Given the description of an element on the screen output the (x, y) to click on. 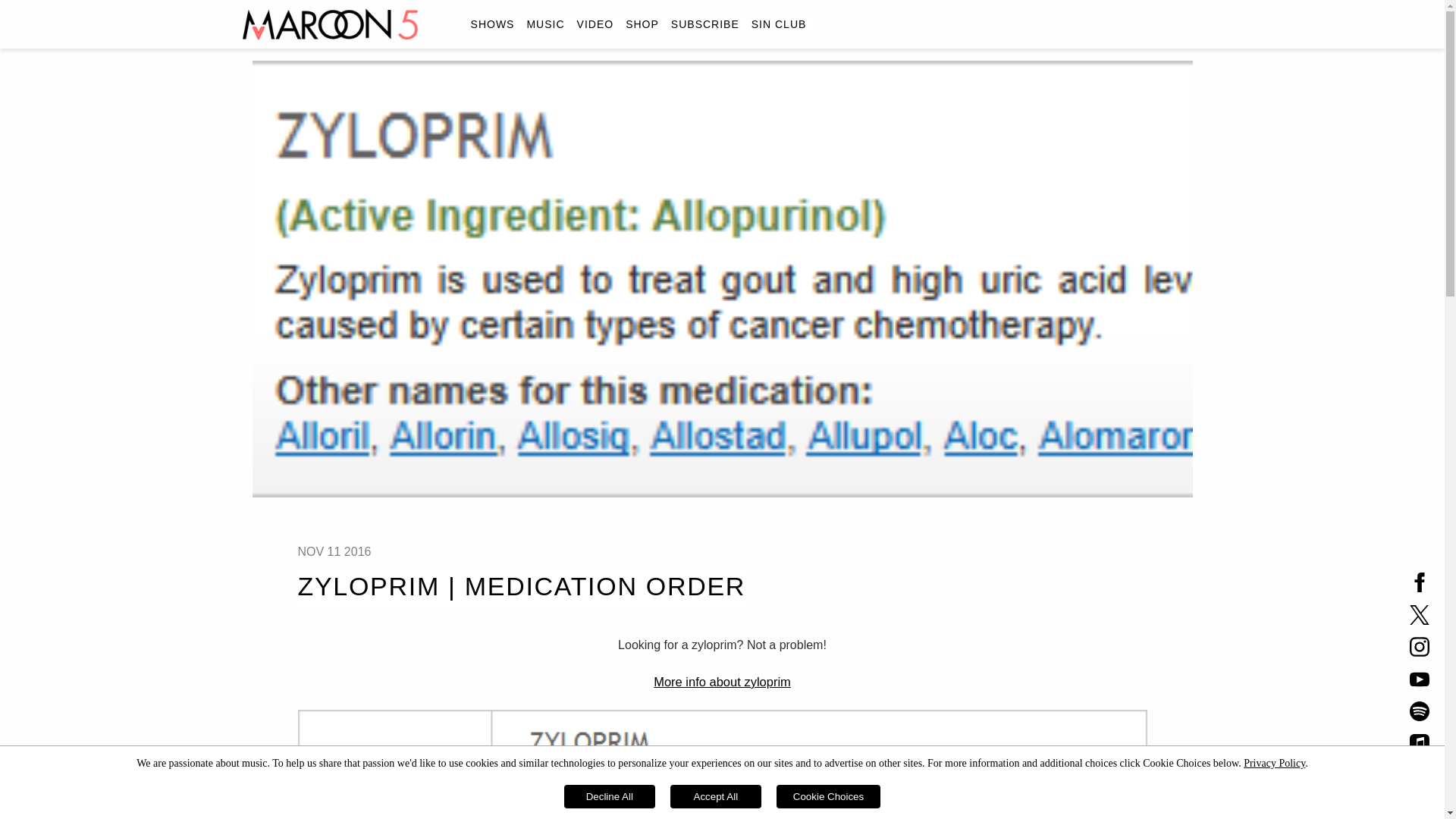
VIDEO (595, 24)
SIN CLUB (778, 24)
MAROON 5 (328, 23)
SHOP (642, 24)
SUBSCRIBE (705, 24)
SHOWS (492, 24)
More info about zyloprim (721, 681)
MUSIC (544, 24)
